Given the description of an element on the screen output the (x, y) to click on. 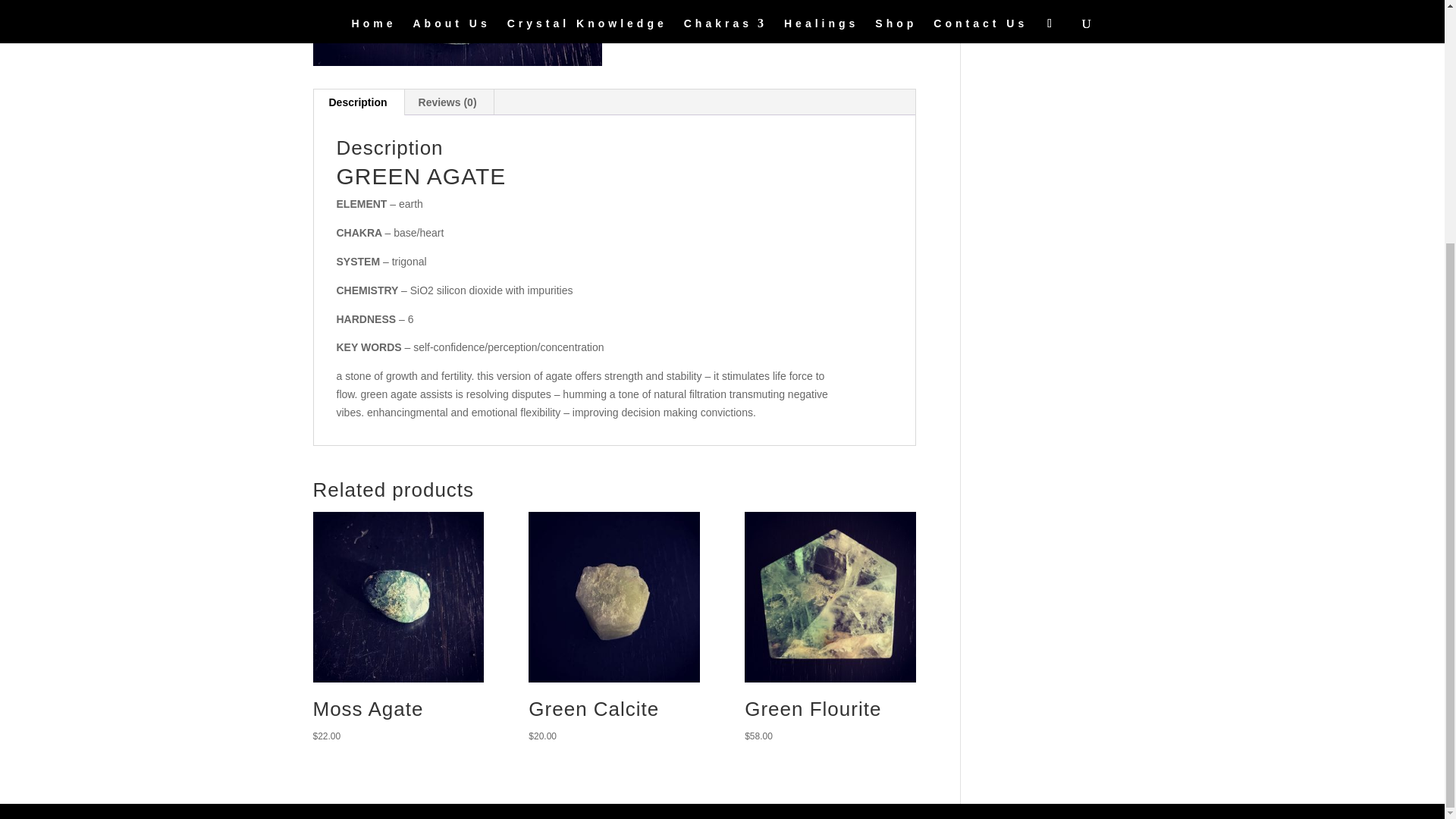
Green Agate (457, 33)
Green Chakra (798, 21)
Green Flourite (829, 596)
Moss Agate (398, 596)
Description (358, 102)
Green Calcite (613, 596)
